Given the description of an element on the screen output the (x, y) to click on. 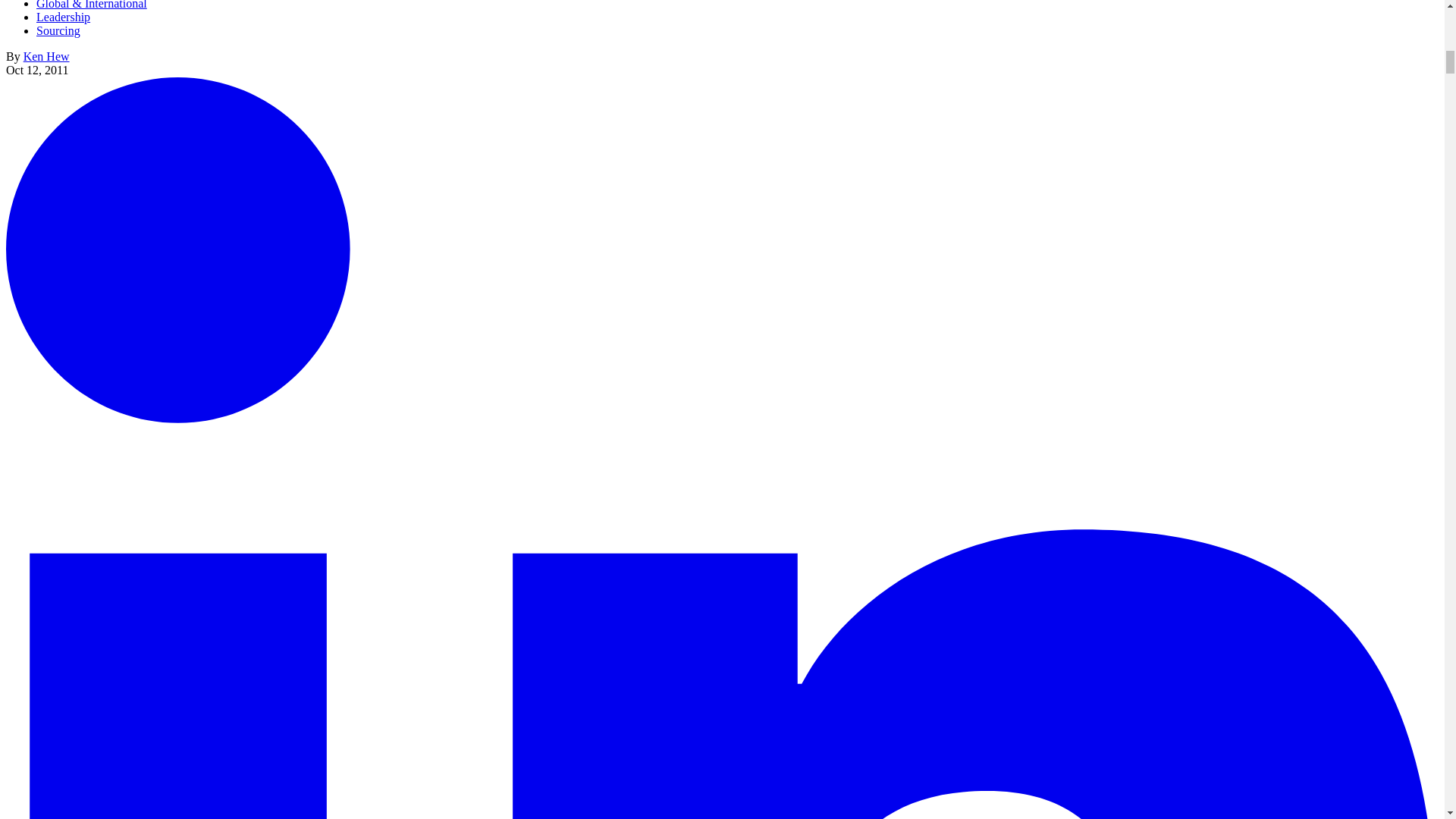
Sourcing (58, 30)
Ken Hew (46, 56)
Leadership (63, 16)
